Given the description of an element on the screen output the (x, y) to click on. 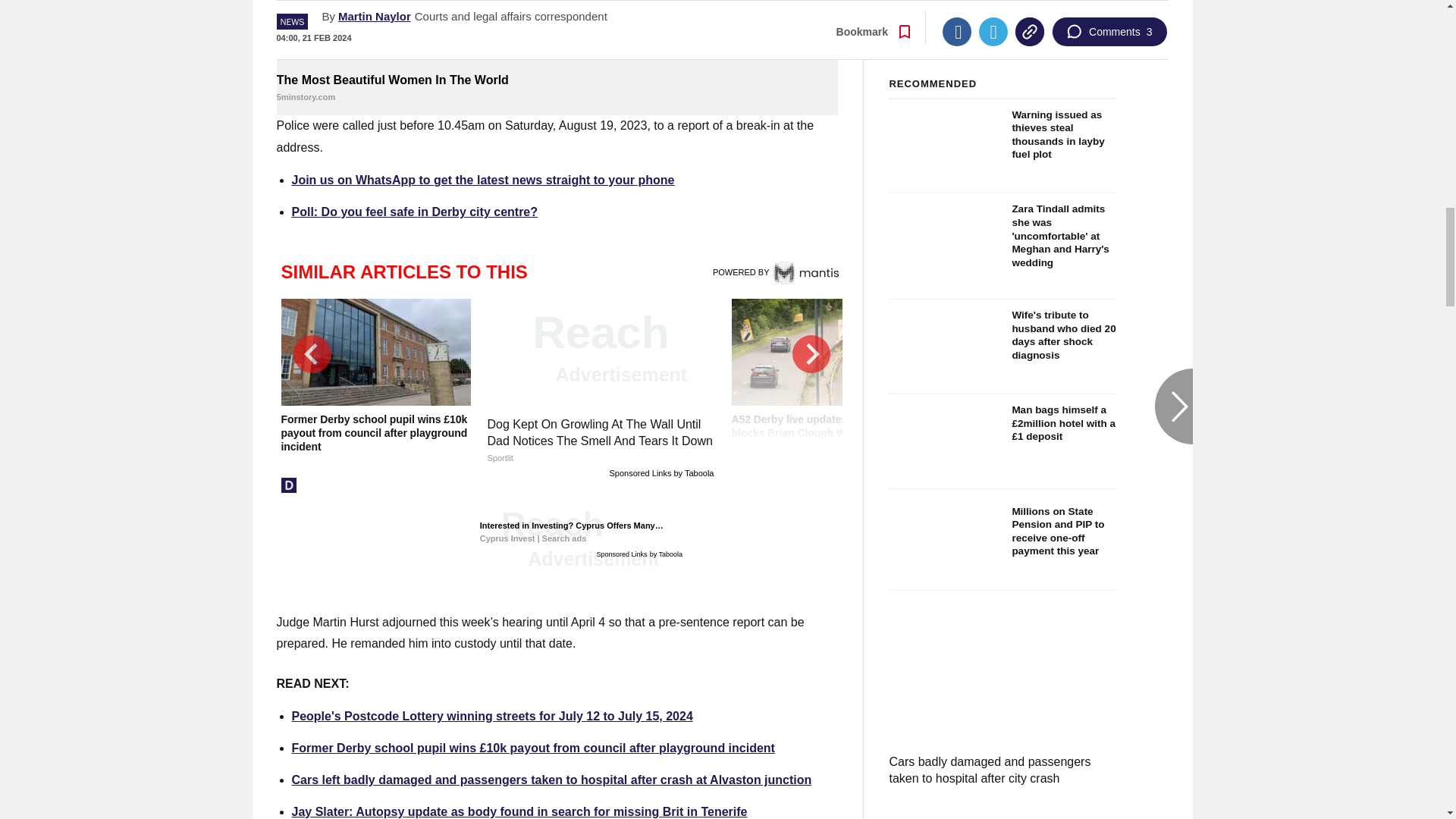
The Most Beautiful Women In The World (557, 88)
The Most Beautiful Women In The World (557, 34)
